Given the description of an element on the screen output the (x, y) to click on. 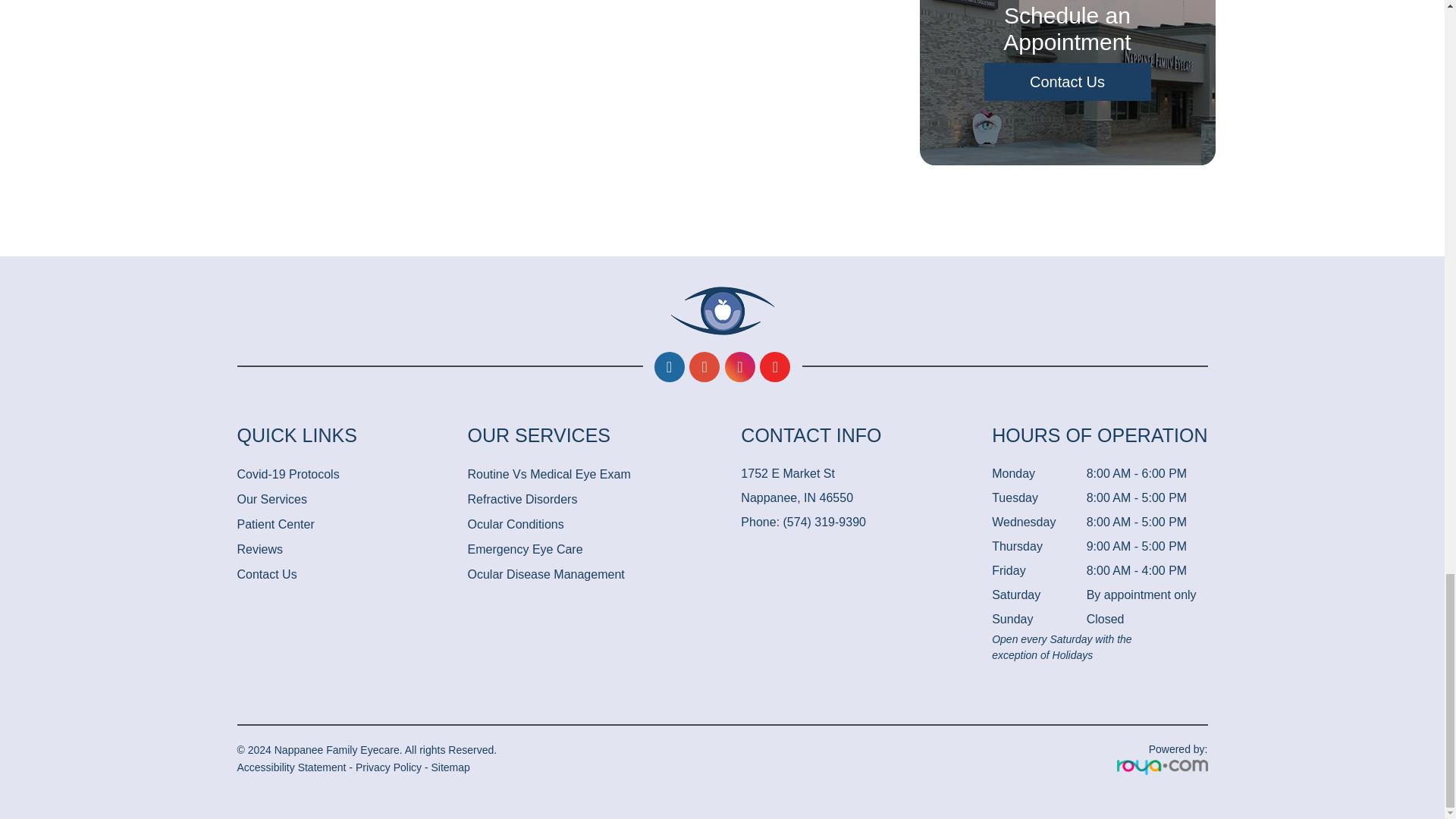
Roya (1161, 767)
